Given the description of an element on the screen output the (x, y) to click on. 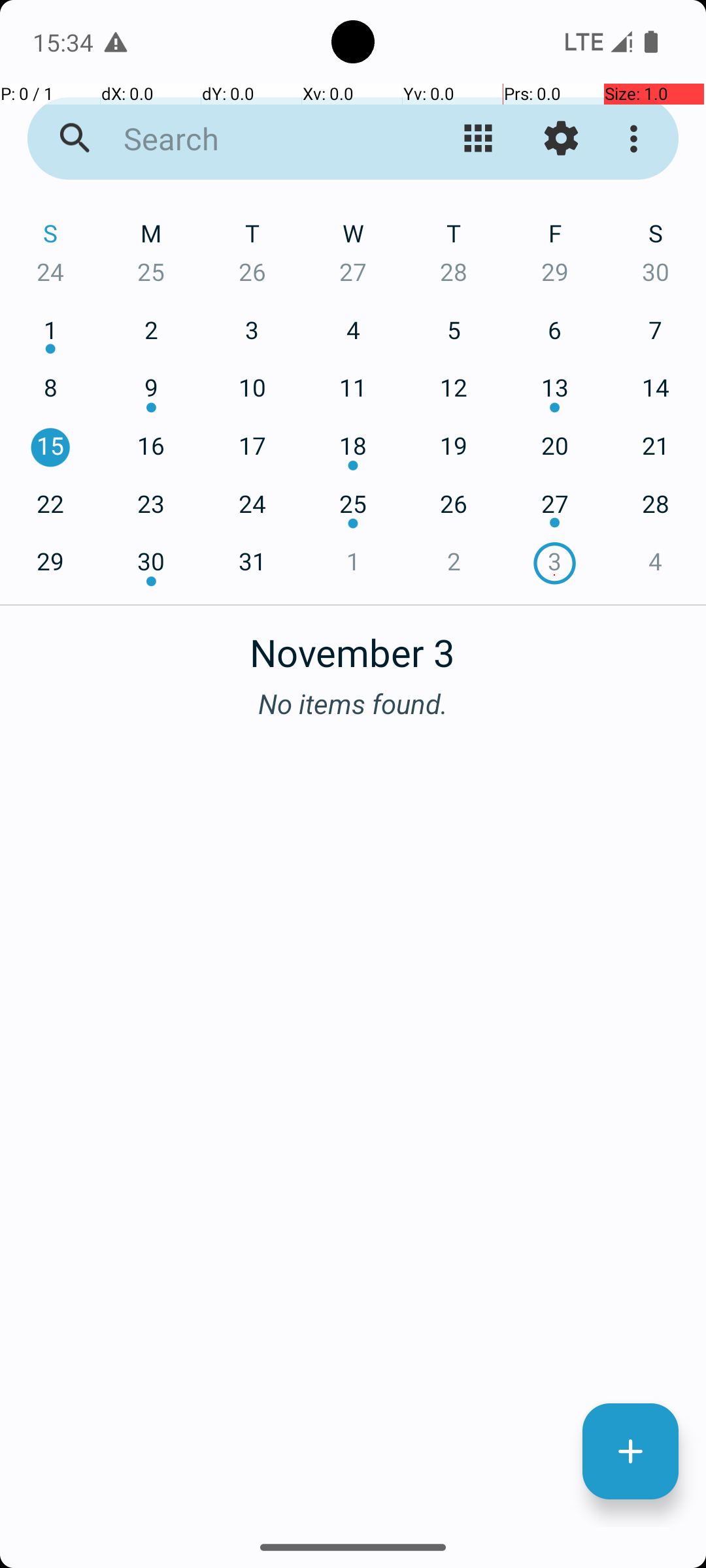
November 3 Element type: android.widget.TextView (352, 644)
